Given the description of an element on the screen output the (x, y) to click on. 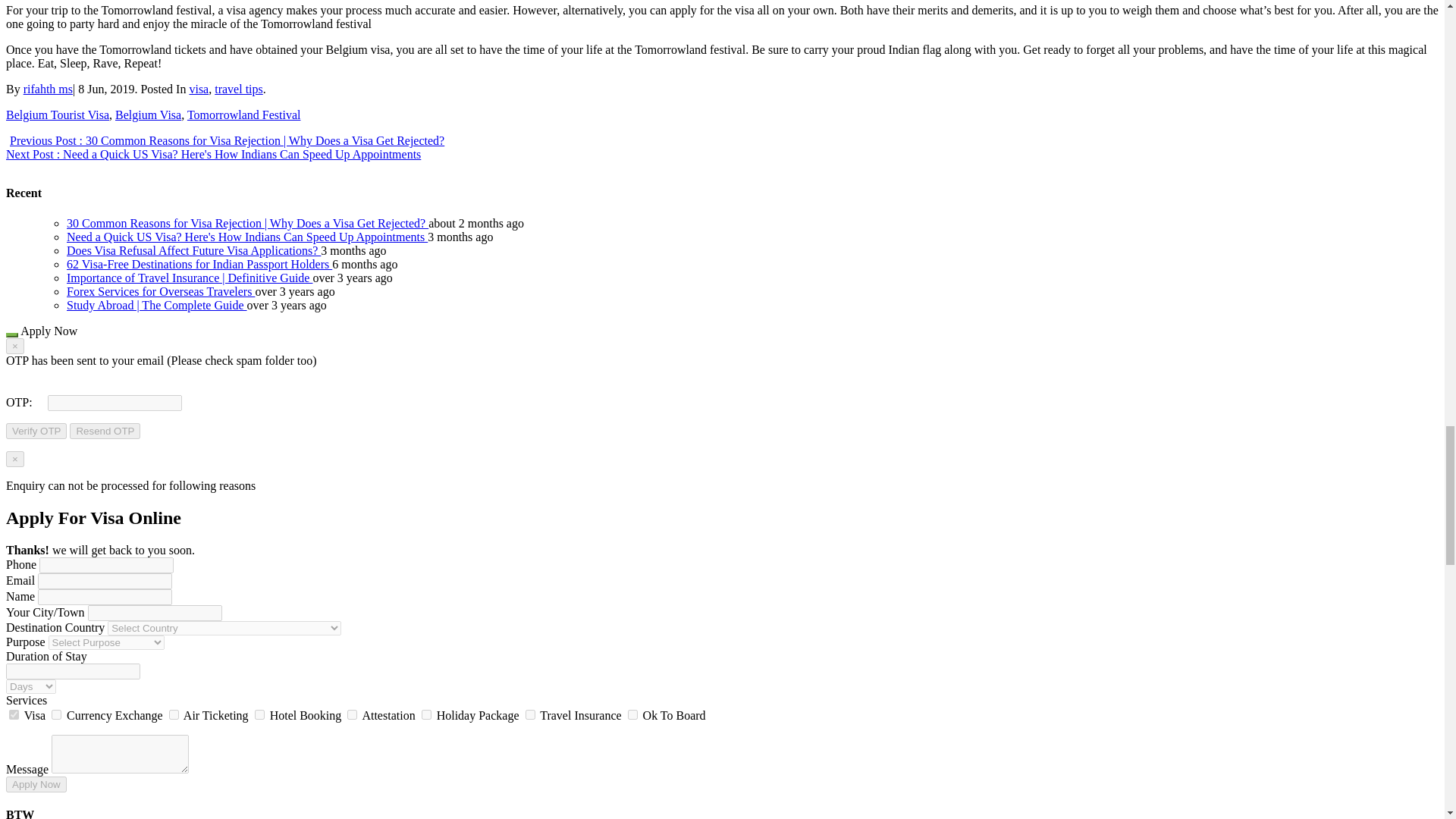
rifahth ms (47, 88)
2 (173, 714)
visa (198, 88)
6 (529, 714)
on (13, 714)
3 (259, 714)
1 (55, 714)
4 (351, 714)
travel tips (238, 88)
5 (426, 714)
7 (632, 714)
Apply Now (35, 784)
